Given the description of an element on the screen output the (x, y) to click on. 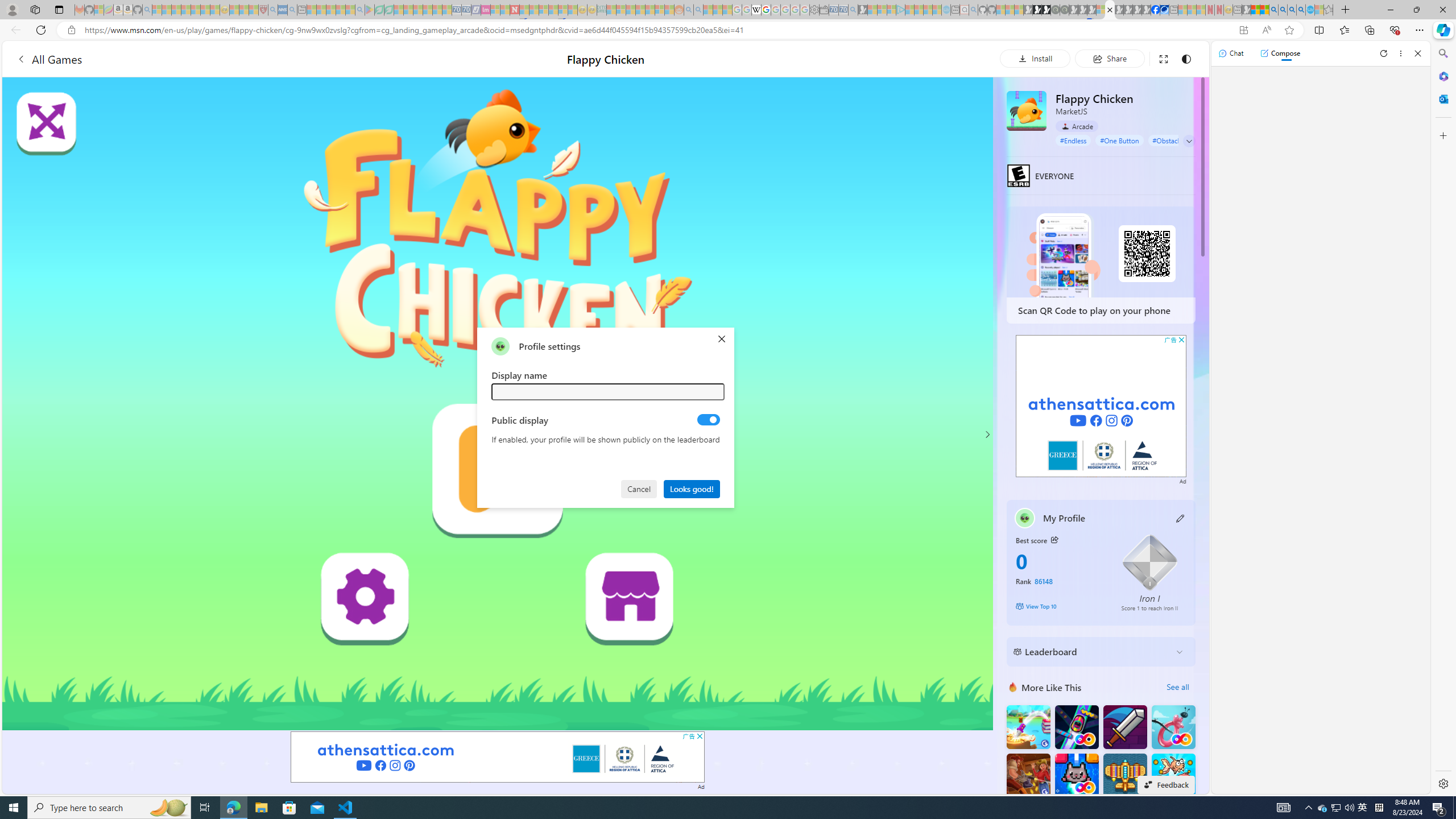
Arcade (1076, 125)
Cancel (639, 488)
